Given the description of an element on the screen output the (x, y) to click on. 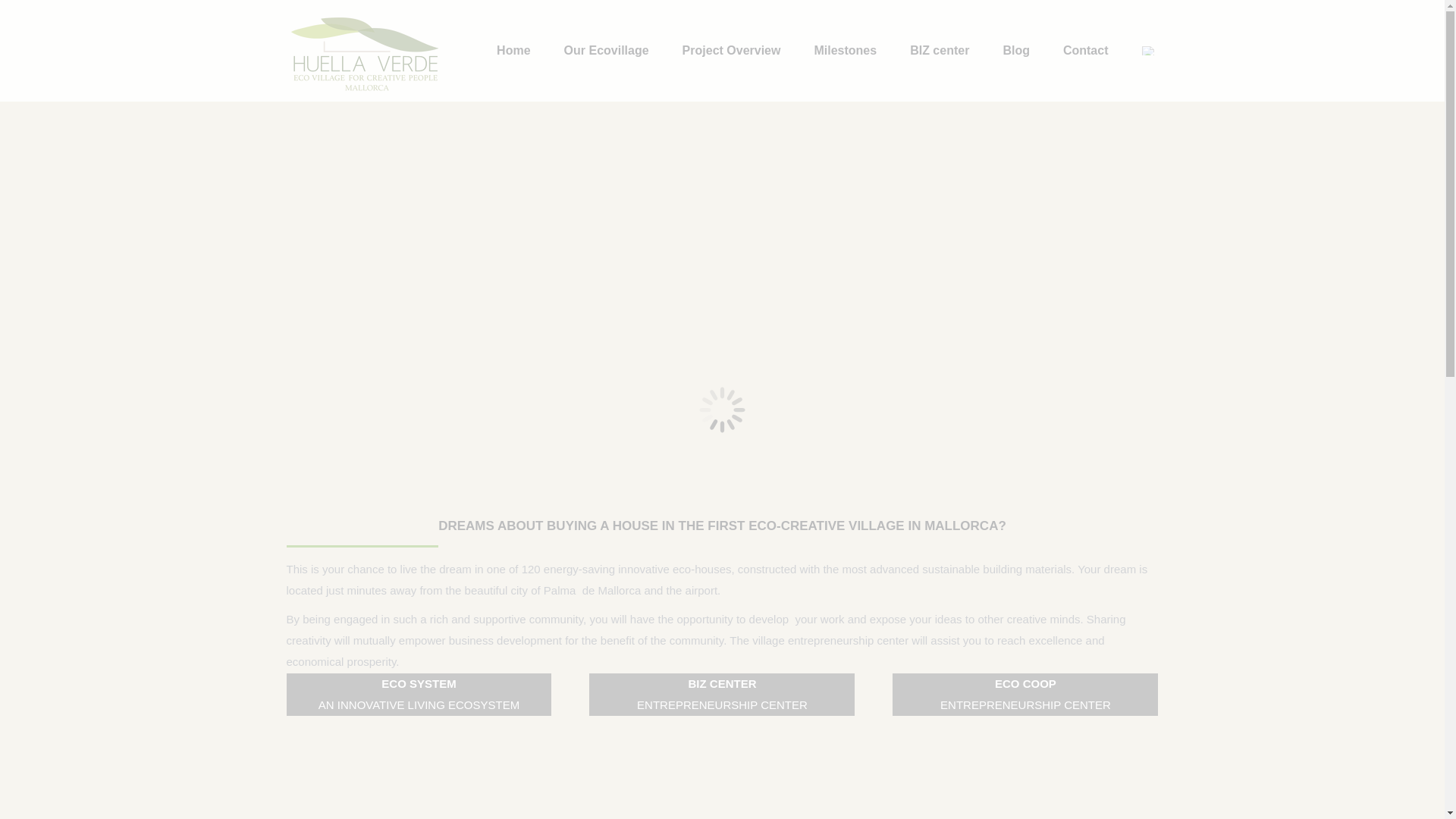
Project Overview (731, 50)
English (1148, 50)
BIZ center (939, 50)
Home (512, 50)
Blog (1016, 50)
Contact (1085, 50)
Our Ecovillage (606, 50)
Milestones (844, 50)
